Given the description of an element on the screen output the (x, y) to click on. 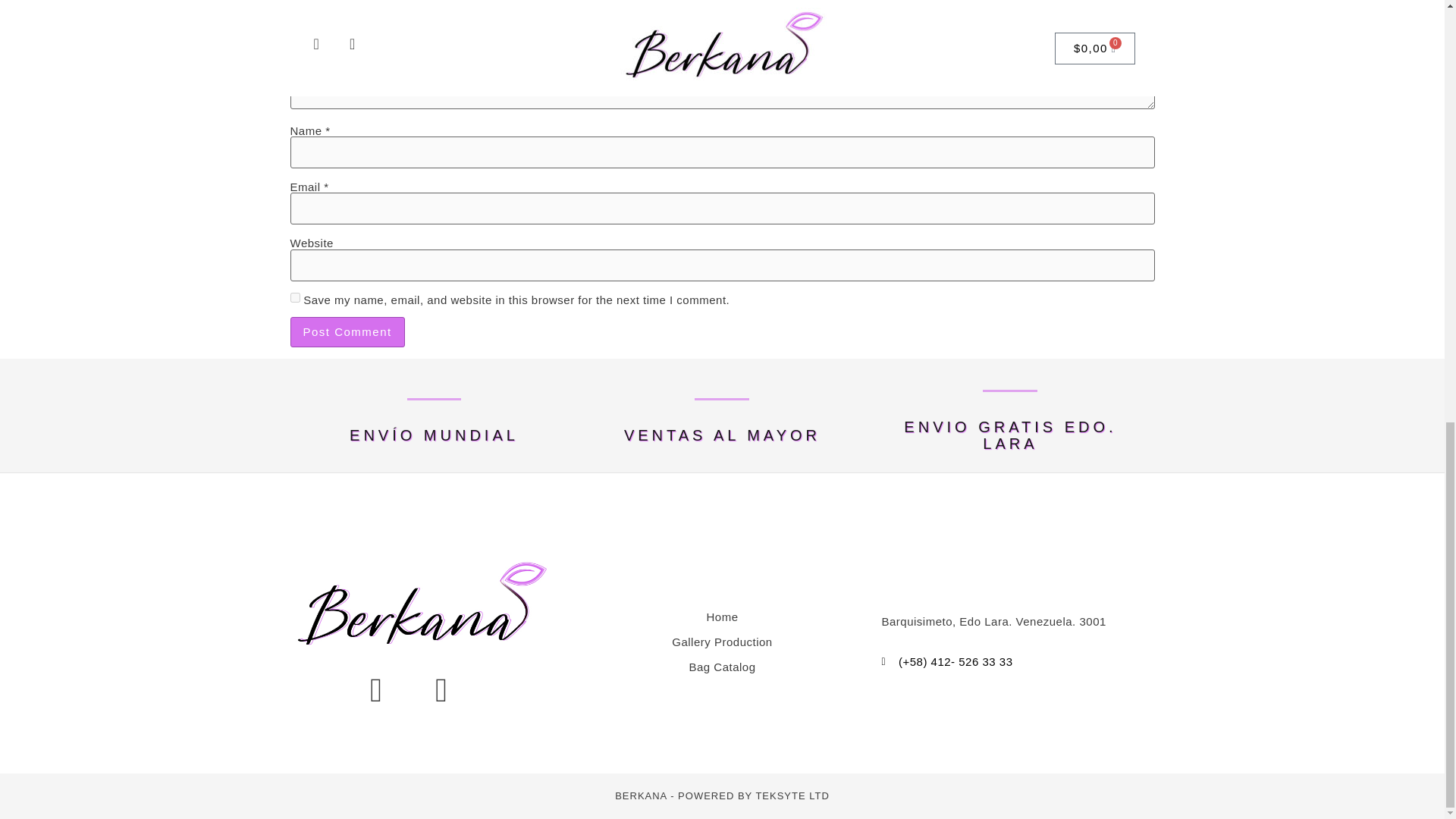
Post Comment (346, 332)
yes (294, 297)
Post Comment (346, 332)
